Given the description of an element on the screen output the (x, y) to click on. 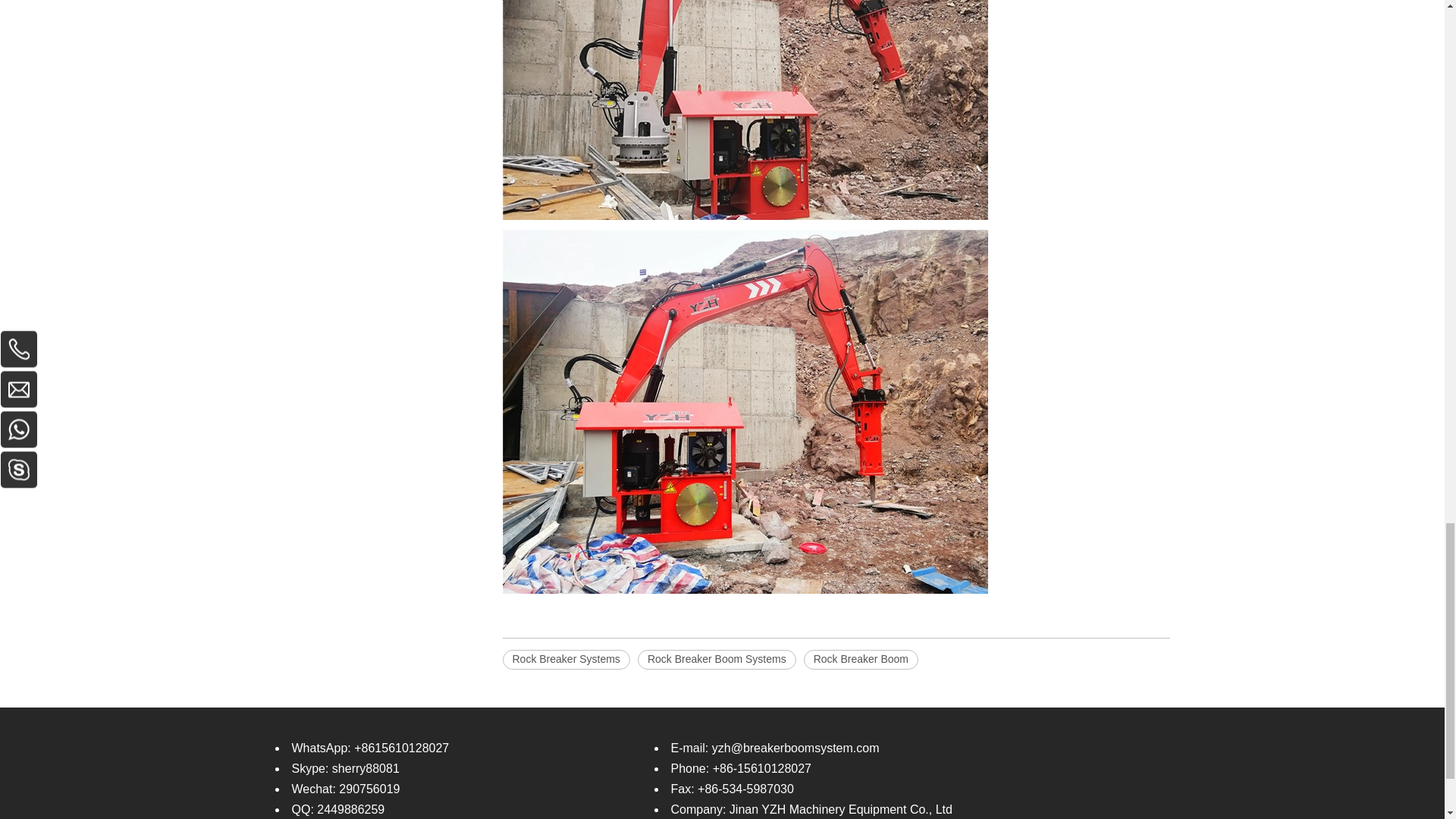
Breaker Boom (744, 110)
Rock Breaker Boom (860, 659)
Rock Breaker Systems (565, 659)
Rock Breaker Boom Systems (716, 659)
